Given the description of an element on the screen output the (x, y) to click on. 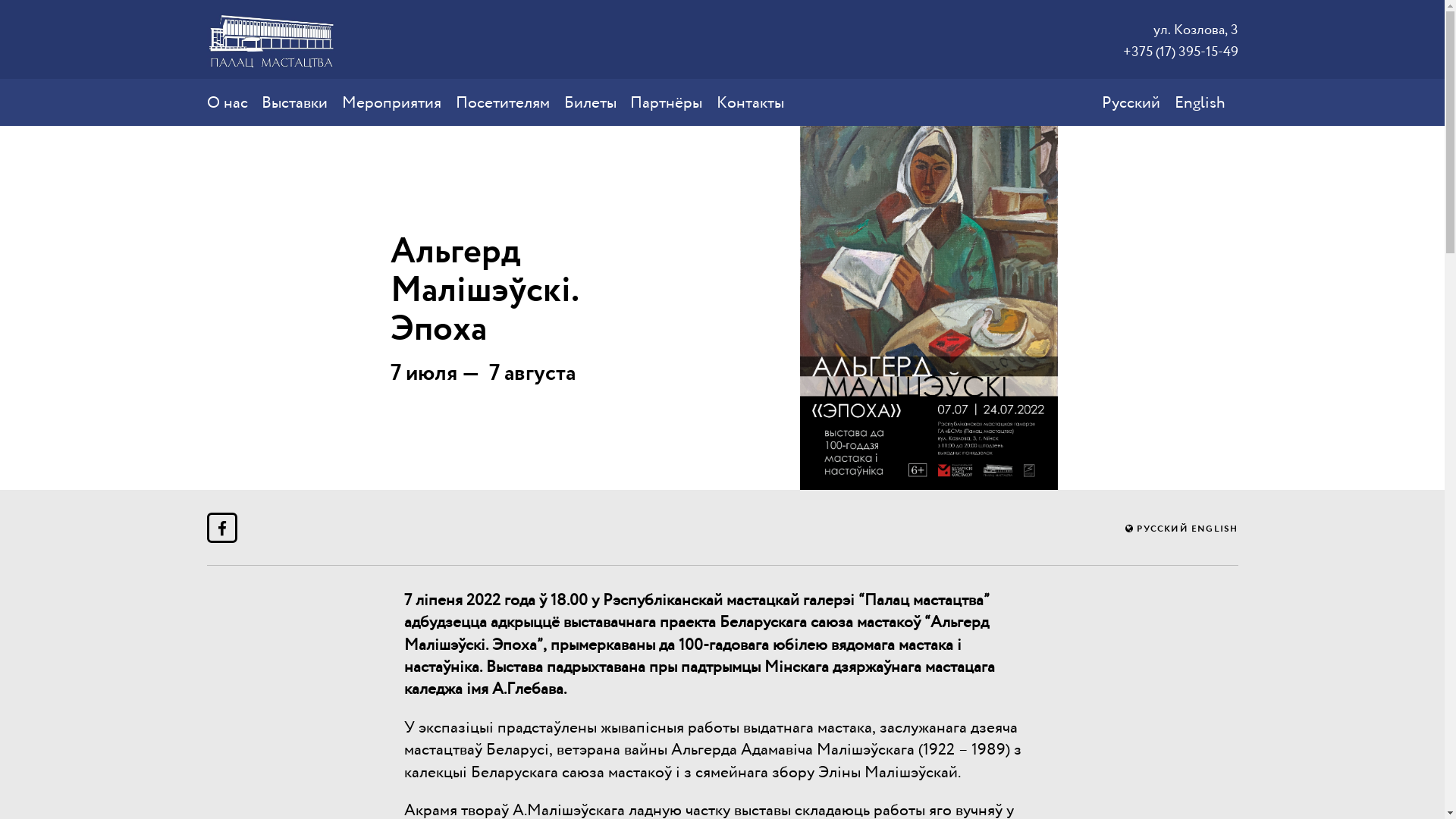
English Element type: text (1199, 101)
ENGLISH Element type: text (1214, 528)
+375 (17) 395-15-49 Element type: text (1179, 51)
